Given the description of an element on the screen output the (x, y) to click on. 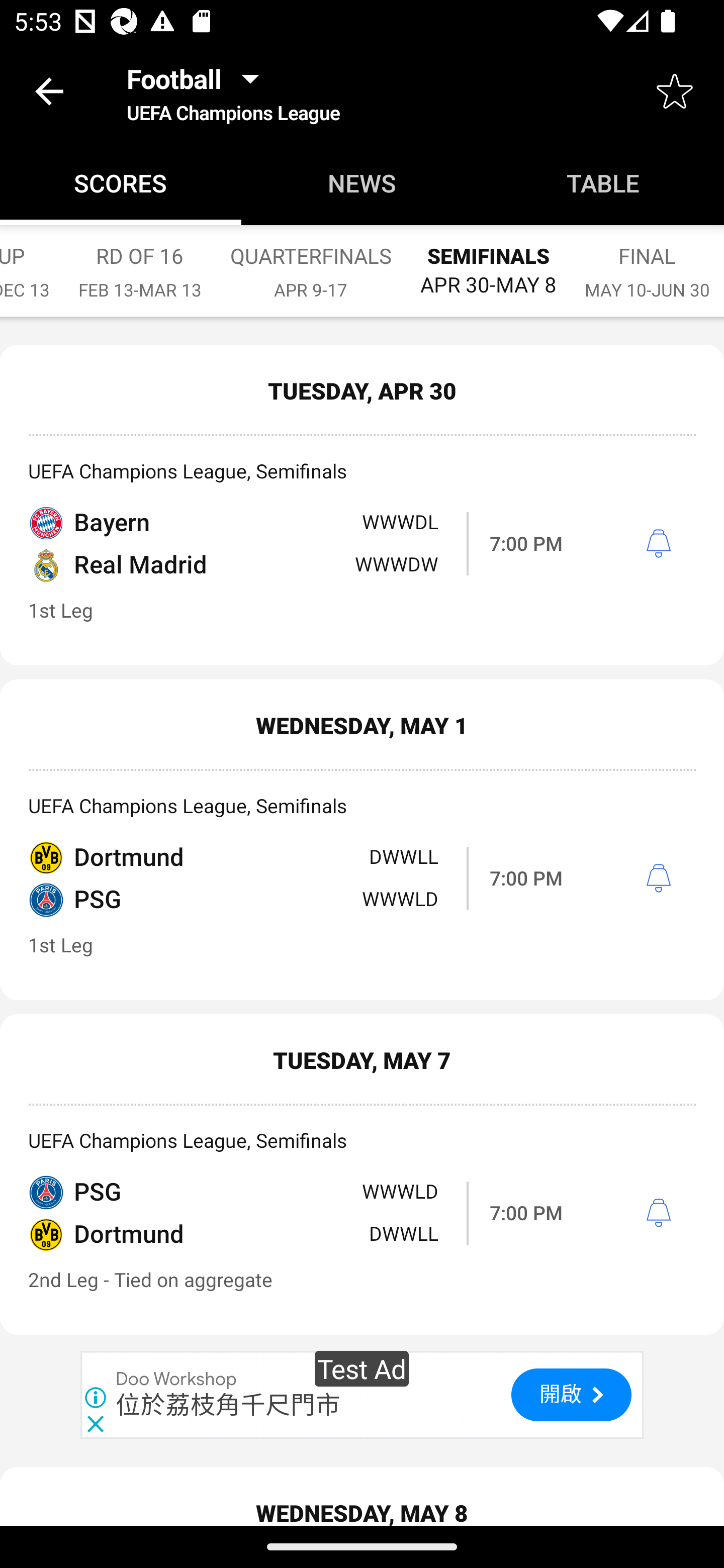
Football UEFA Champions League (232, 90)
Favorite toggle (674, 90)
News NEWS (361, 183)
Table TABLE (603, 183)
RD OF 16 FEB 13-MAR 13 (139, 262)
QUARTERFINALS APR 9-17 (310, 262)
SEMIFINALS APR 30-MAY 8 (487, 261)
FINAL MAY 10-JUN 30 (647, 262)
TUESDAY, APR 30 (362, 389)
í (658, 543)
WEDNESDAY, MAY 1 (362, 724)
í (658, 878)
TUESDAY, MAY 7 (362, 1059)
í (658, 1213)
Doo Workshop (176, 1379)
開啟 (570, 1394)
位於荔枝角千尺門市 (228, 1404)
WEDNESDAY, MAY 8 (362, 1496)
